Given the description of an element on the screen output the (x, y) to click on. 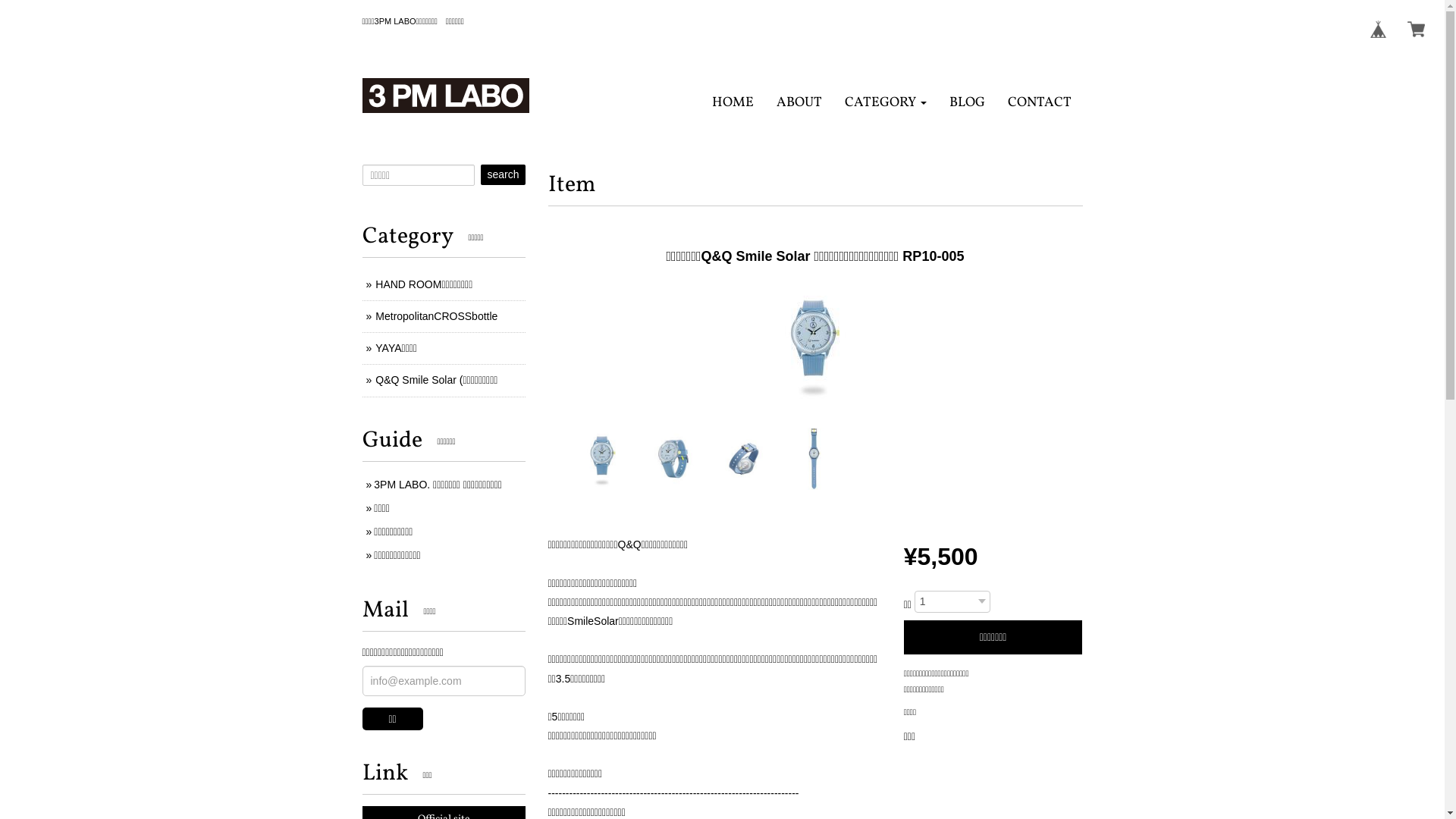
CATEGORY Element type: text (885, 102)
MetropolitanCROSSbottle Element type: text (436, 316)
search Element type: text (502, 174)
BLOG Element type: text (966, 102)
ABOUT Element type: text (799, 102)
CONTACT Element type: text (1039, 102)
BASE Element type: hover (1378, 29)
HOME Element type: text (732, 102)
